Given the description of an element on the screen output the (x, y) to click on. 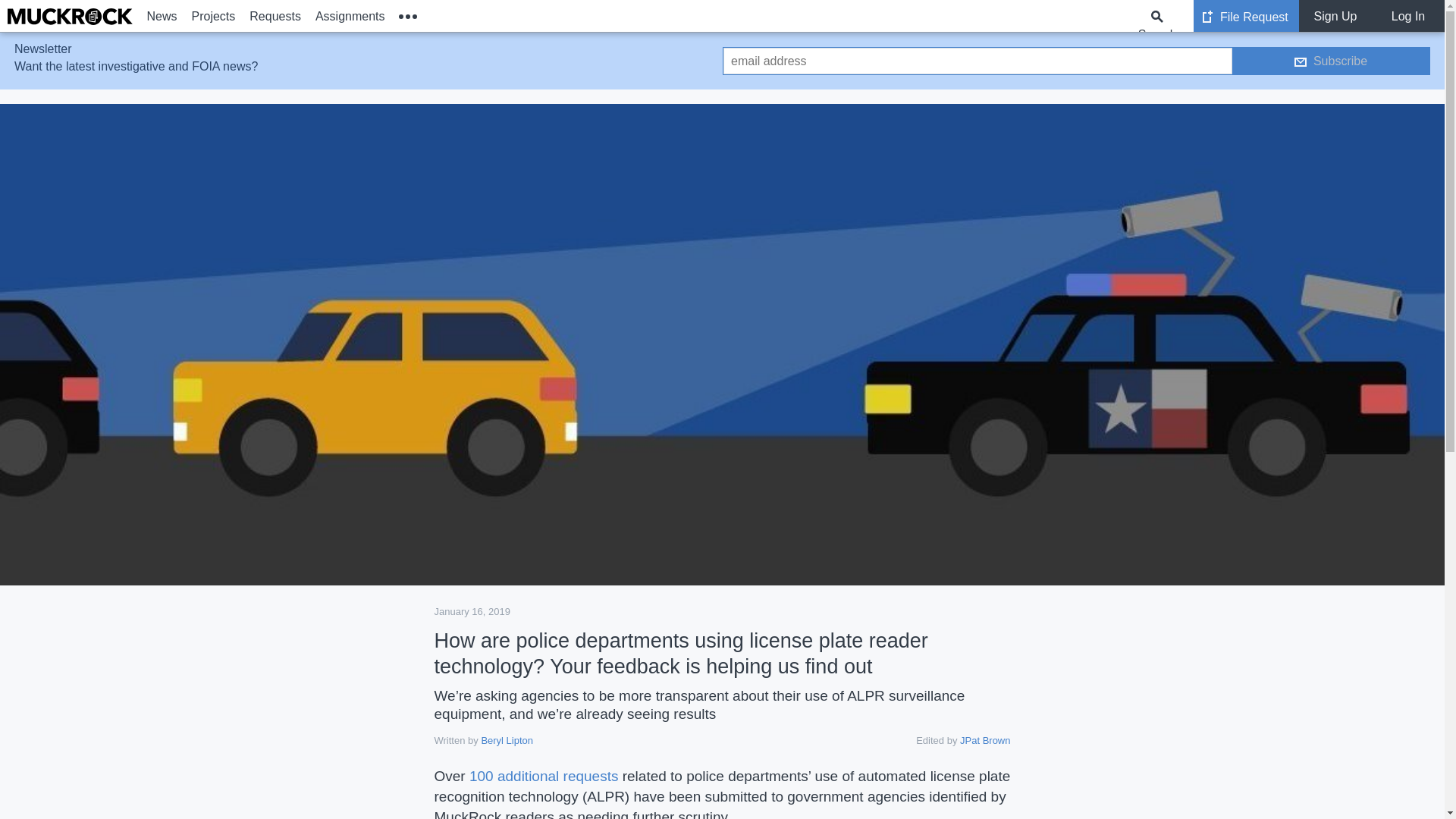
Assignments (349, 15)
JPat Brown (984, 740)
Create Request (1206, 16)
Beryl Lipton (506, 740)
Email Icon resembling an envelope. Subscribe (1330, 60)
Create Request File Request (1245, 15)
MuckRock Logotype A boldfaced logotype that spells MuckRock. (69, 16)
MuckRock Logotype A boldfaced logotype that spells MuckRock. (69, 15)
Requests (275, 15)
100 additional requests (542, 775)
